Given the description of an element on the screen output the (x, y) to click on. 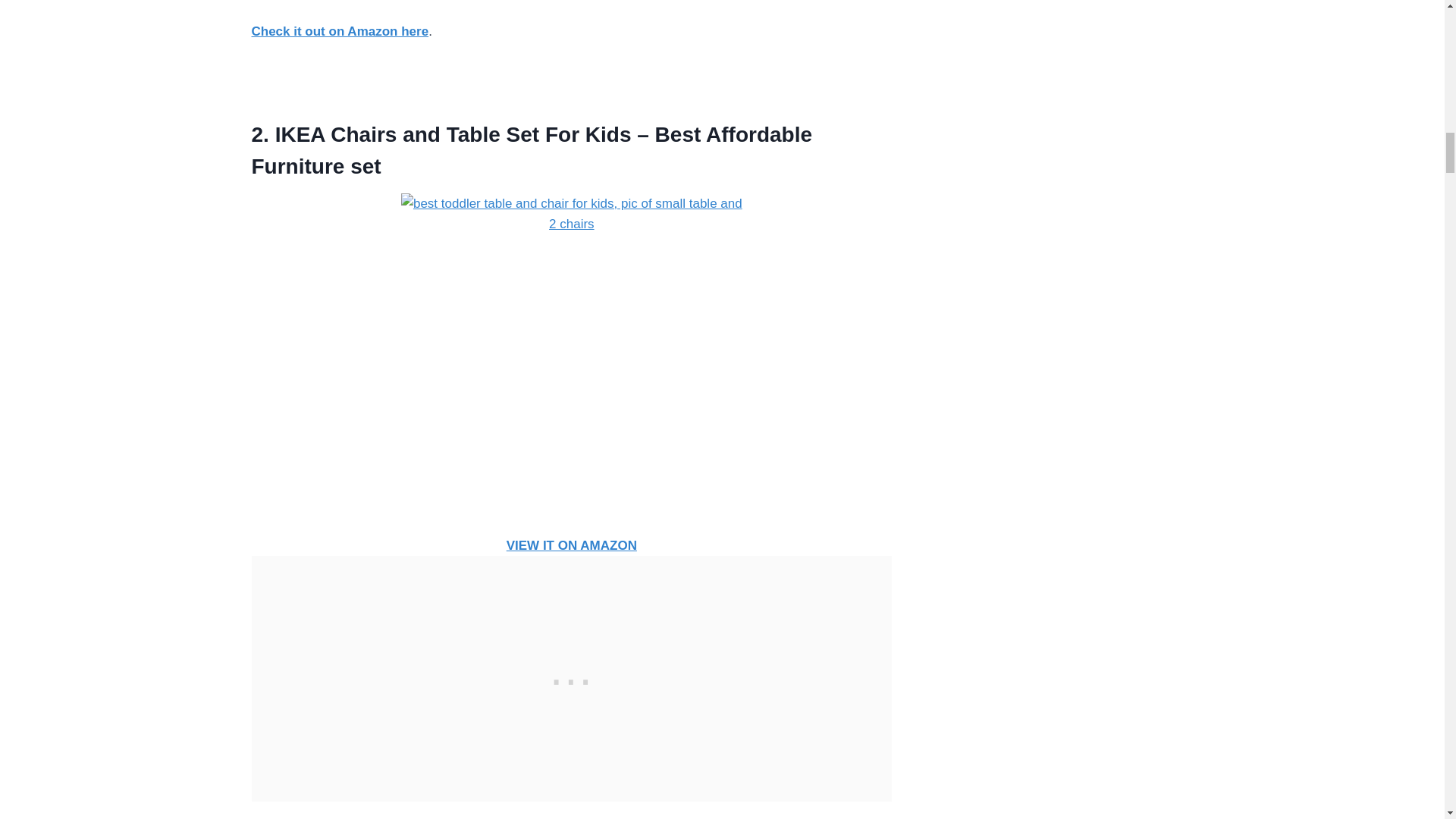
Check it out on Amazon here (340, 31)
VIEW IT ON AMAZON (571, 545)
